Given the description of an element on the screen output the (x, y) to click on. 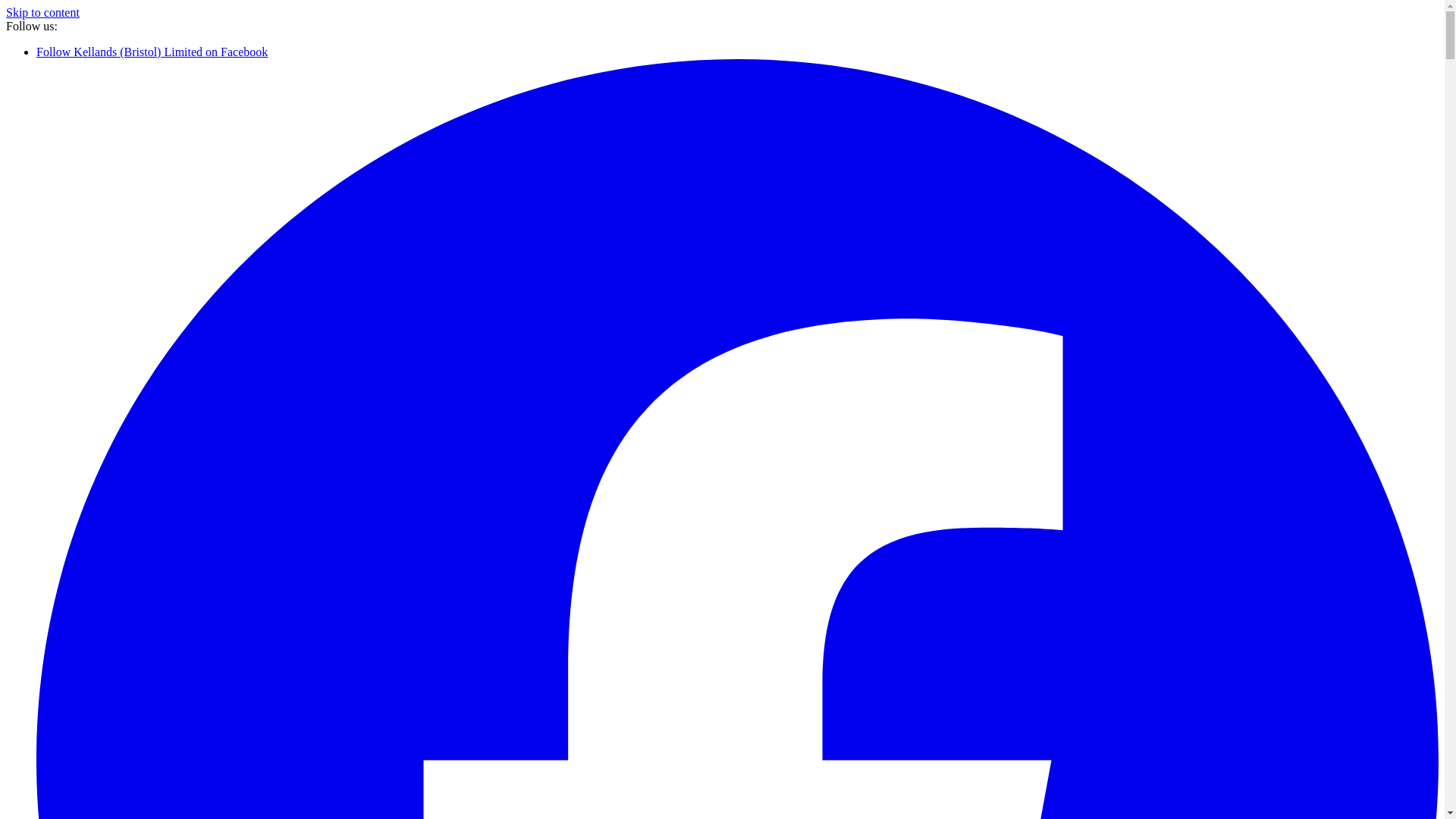
Skip to content (42, 11)
